Given the description of an element on the screen output the (x, y) to click on. 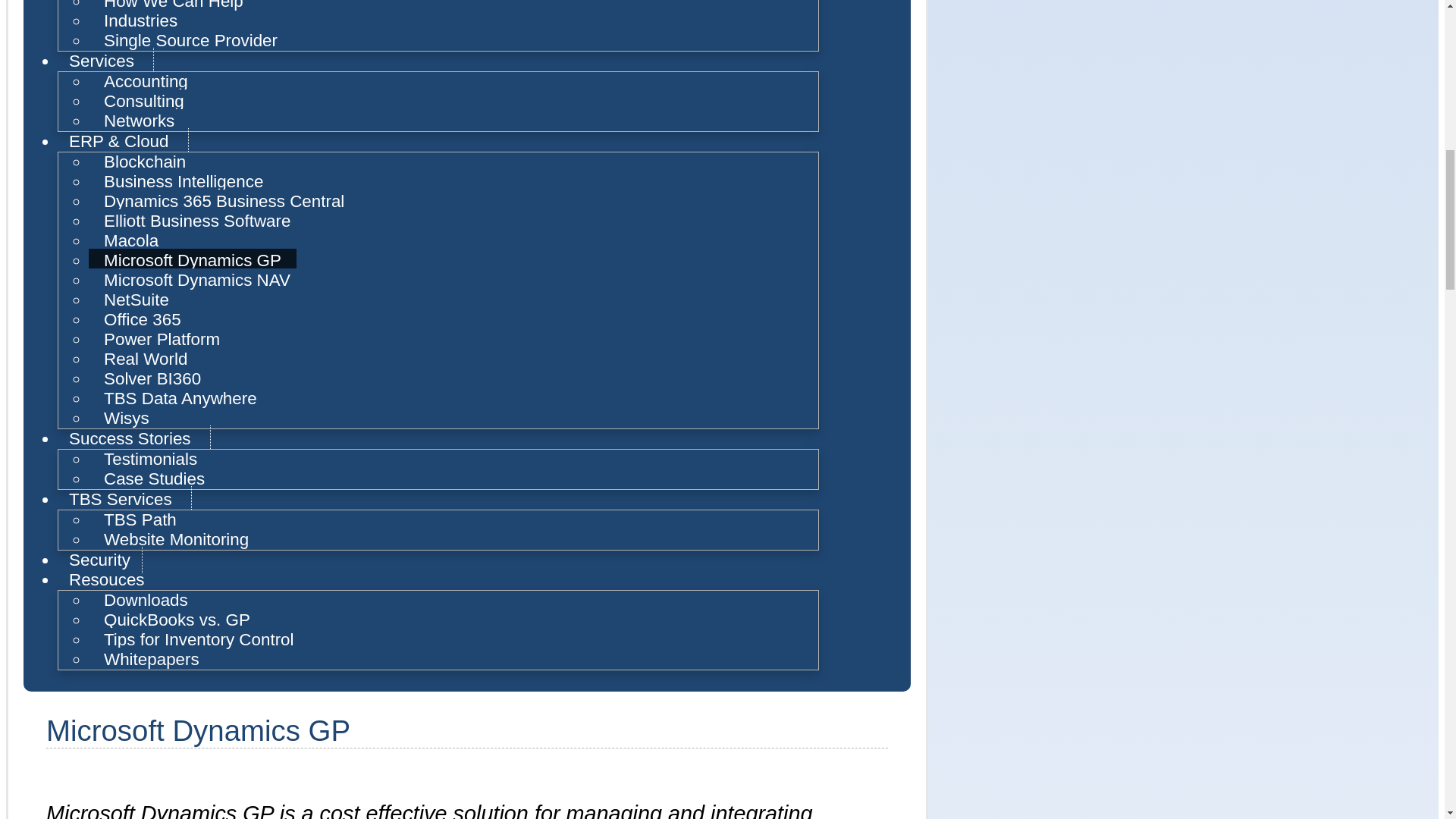
How We Can Help (173, 6)
Office 365 (142, 319)
Microsoft Dynamics GP (192, 259)
Success Stories (134, 438)
Real World (145, 359)
Macola (130, 240)
Elliott Business Software (196, 220)
Accounting (145, 81)
Microsoft Dynamics NAV (196, 279)
Website Monitoring (175, 539)
Blockchain (144, 161)
Single Source Provider (190, 40)
TBS Services (125, 499)
Consulting (143, 101)
Testimonials (150, 458)
